Given the description of an element on the screen output the (x, y) to click on. 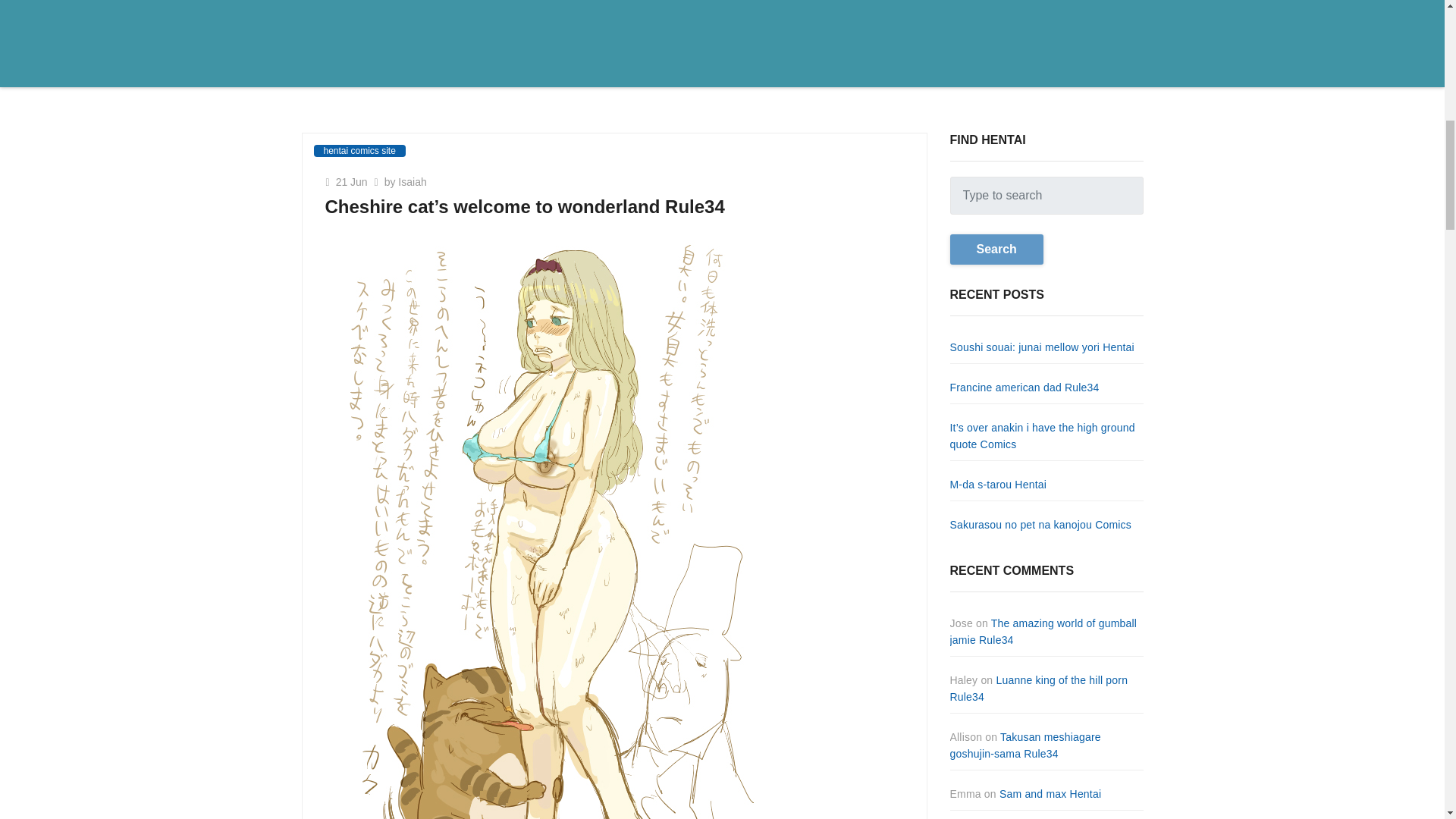
Sakurasou no pet na kanojou Comics (1040, 524)
hentai comics site (359, 150)
Francine american dad Rule34 (1024, 387)
The amazing world of gumball jamie Rule34 (1043, 631)
Sam and max Hentai (1049, 793)
Soushi souai: junai mellow yori Hentai (1041, 346)
Luanne king of the hill porn Rule34 (1037, 688)
Takusan meshiagare goshujin-sama Rule34 (1024, 745)
Search (995, 249)
M-da s-tarou Hentai (997, 484)
by Isaiah (400, 182)
